Given the description of an element on the screen output the (x, y) to click on. 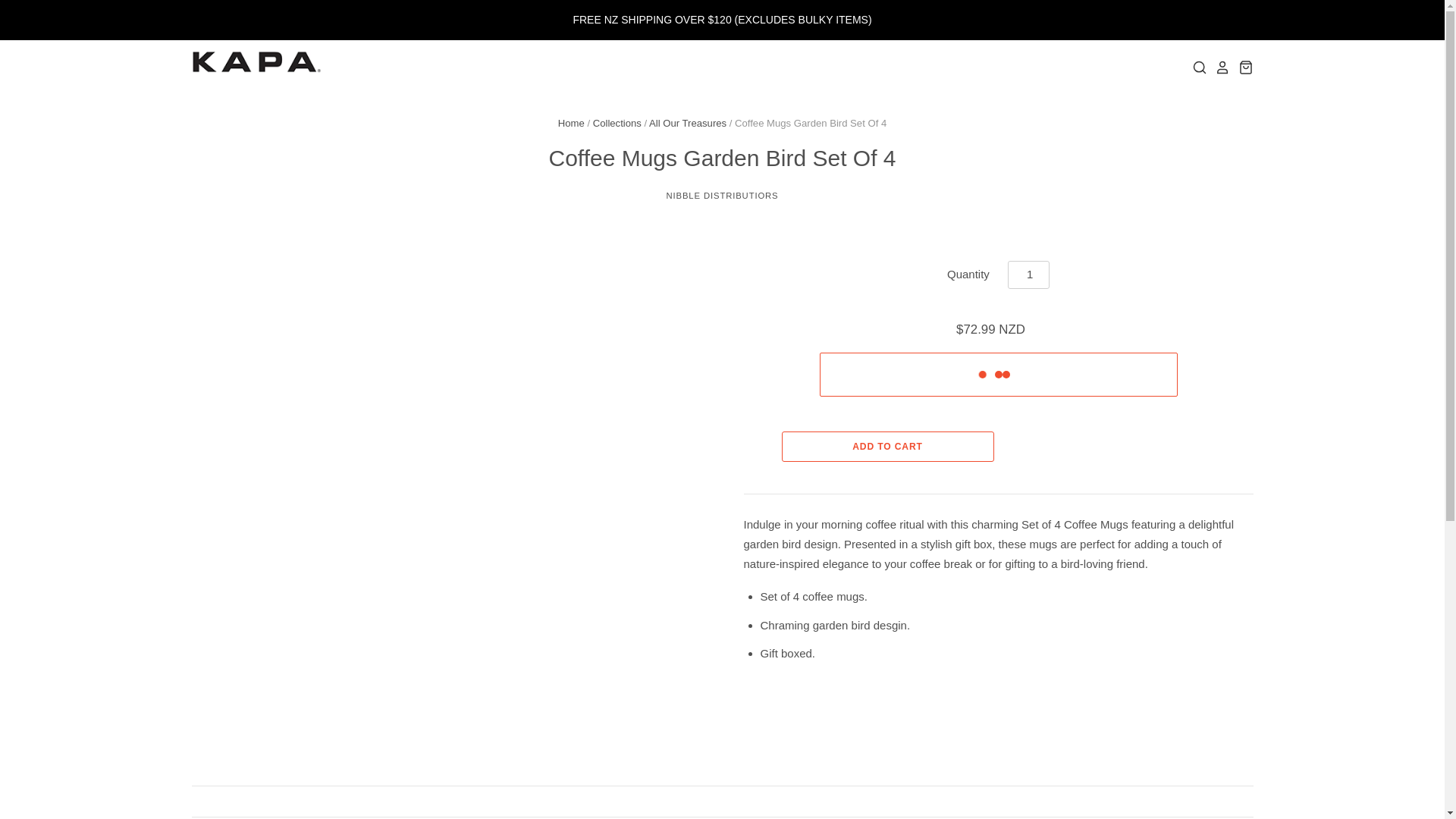
Add to cart (886, 446)
1 (1028, 275)
